Given the description of an element on the screen output the (x, y) to click on. 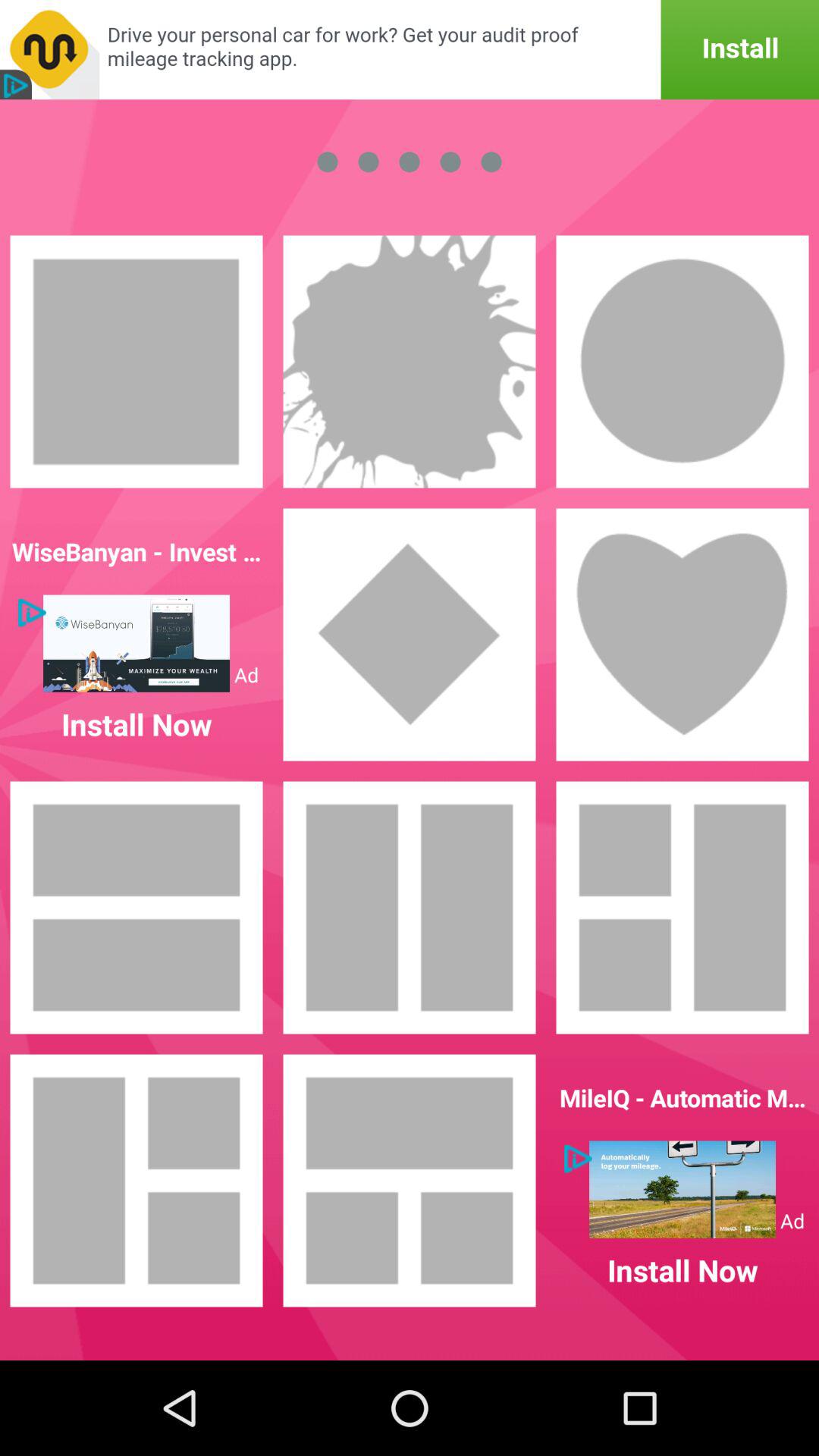
it picks that shape (136, 361)
